Given the description of an element on the screen output the (x, y) to click on. 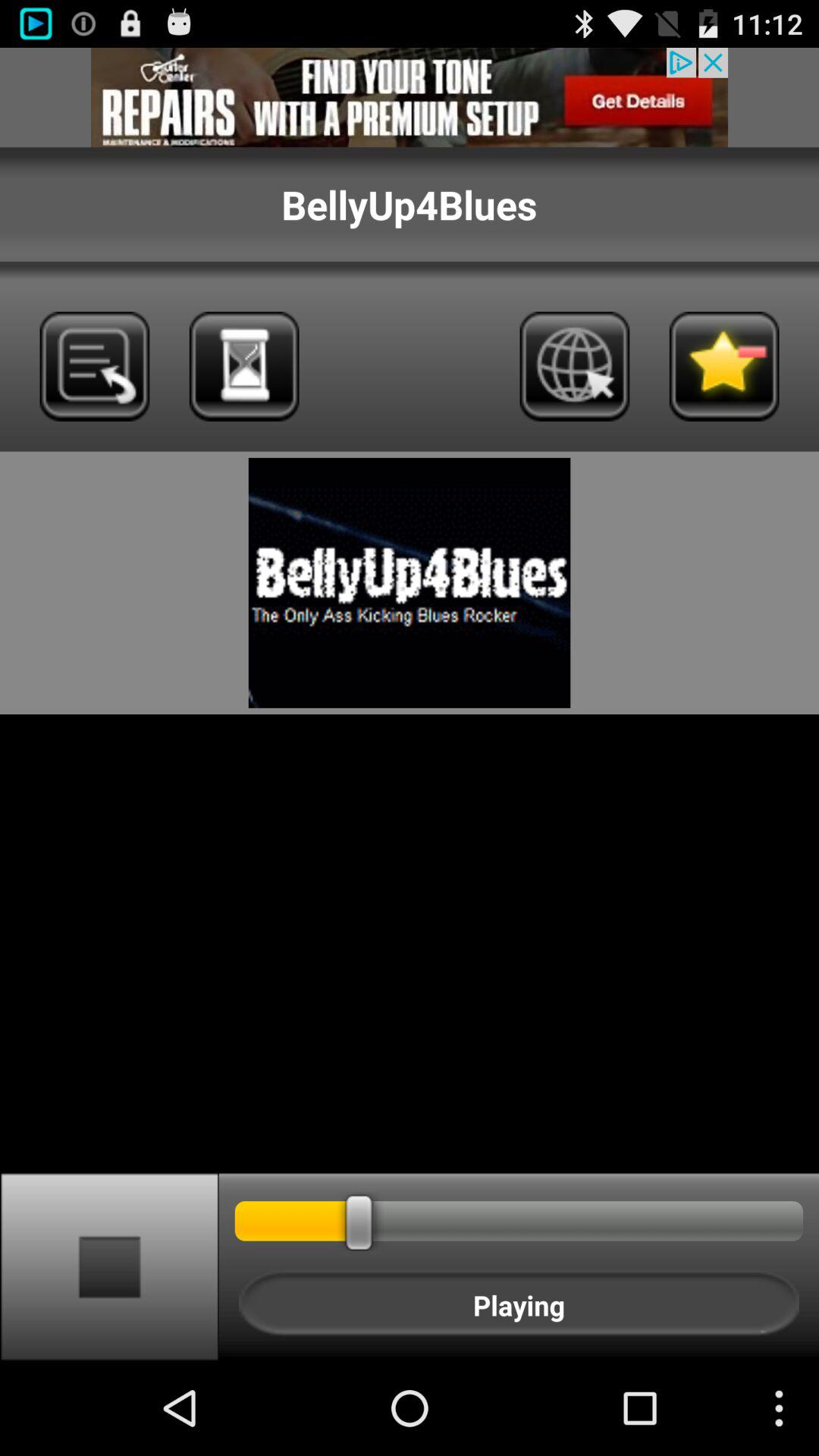
advertisement (409, 97)
